Given the description of an element on the screen output the (x, y) to click on. 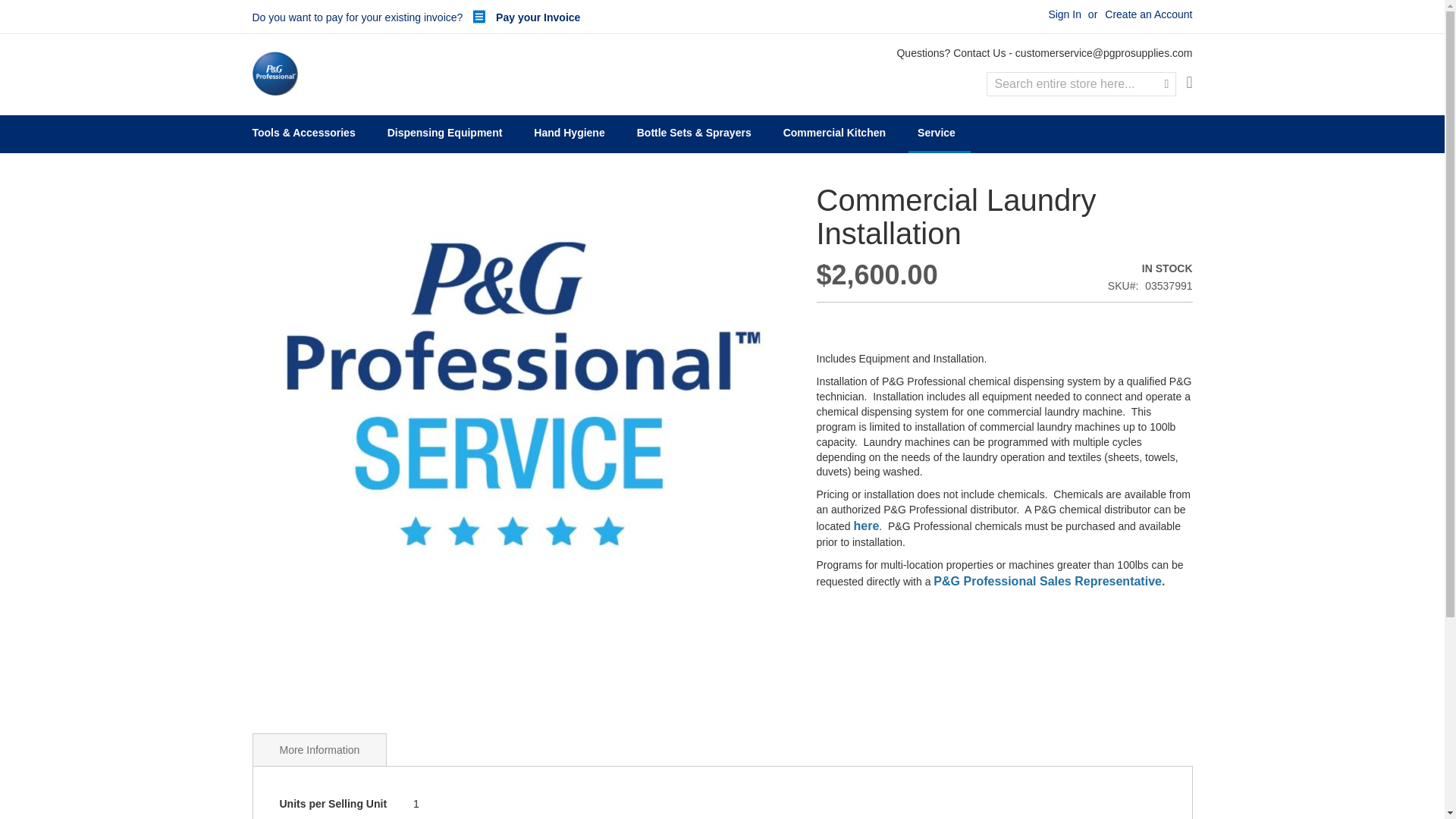
Hand Hygiene (572, 134)
Pay your Invoice (522, 17)
Dispensing Equipment (448, 134)
Availability (1150, 268)
Service (939, 134)
Sign In (1064, 14)
Pay your Invoice (522, 17)
Commercial Kitchen (837, 134)
Create an Account (1148, 14)
